Given the description of an element on the screen output the (x, y) to click on. 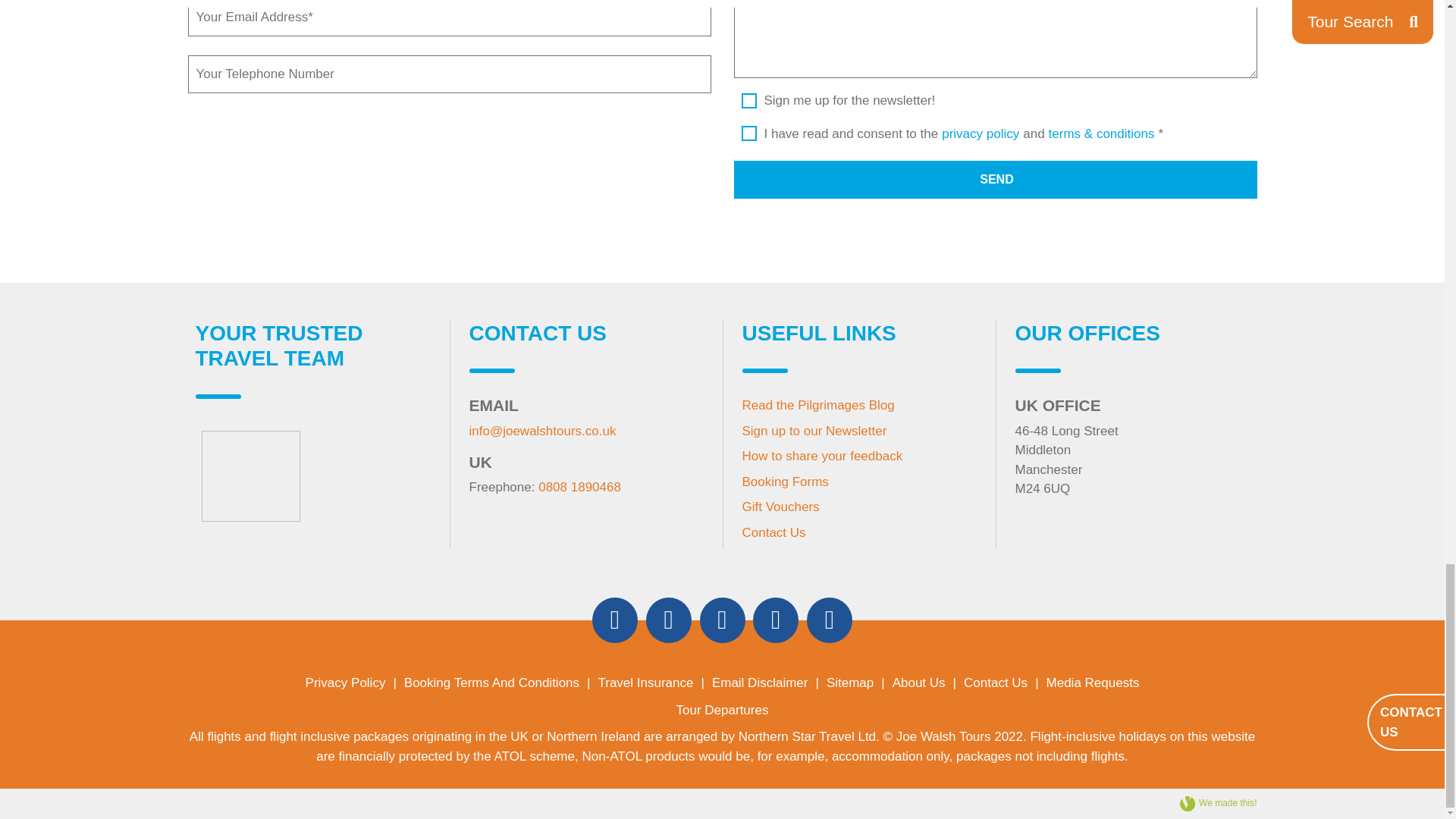
Send (995, 179)
1 (749, 124)
1 (749, 101)
